Given the description of an element on the screen output the (x, y) to click on. 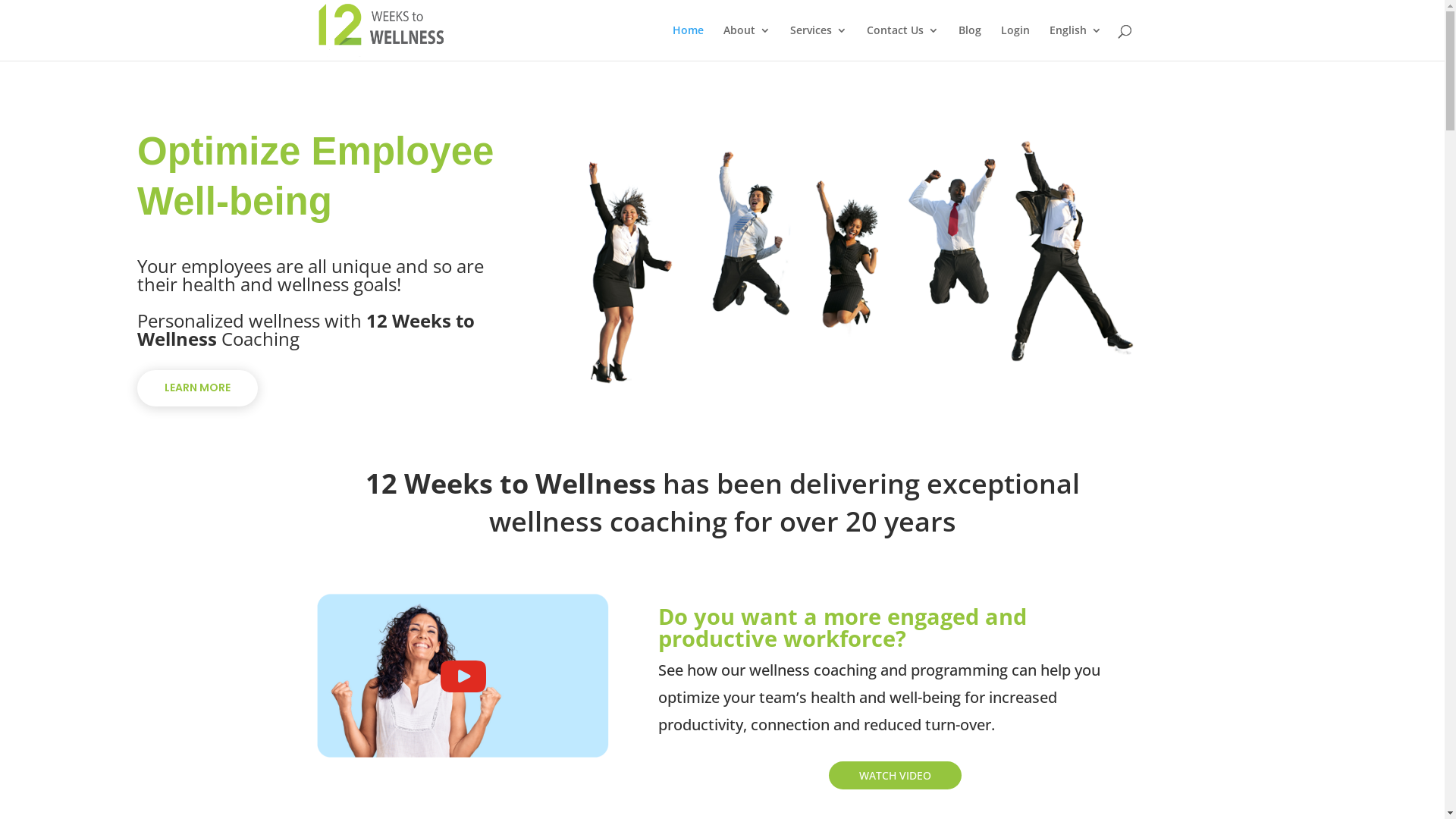
LEARN MORE Element type: text (197, 388)
Services Element type: text (818, 42)
WATCH VIDEO Element type: text (894, 775)
English Element type: text (1075, 42)
Contact Us Element type: text (902, 42)
Home Element type: text (686, 42)
Login Element type: text (1015, 42)
Healthy-Happy-Employees-840 Element type: hover (859, 261)
About Element type: text (746, 42)
Blog Element type: text (969, 42)
